Given the description of an element on the screen output the (x, y) to click on. 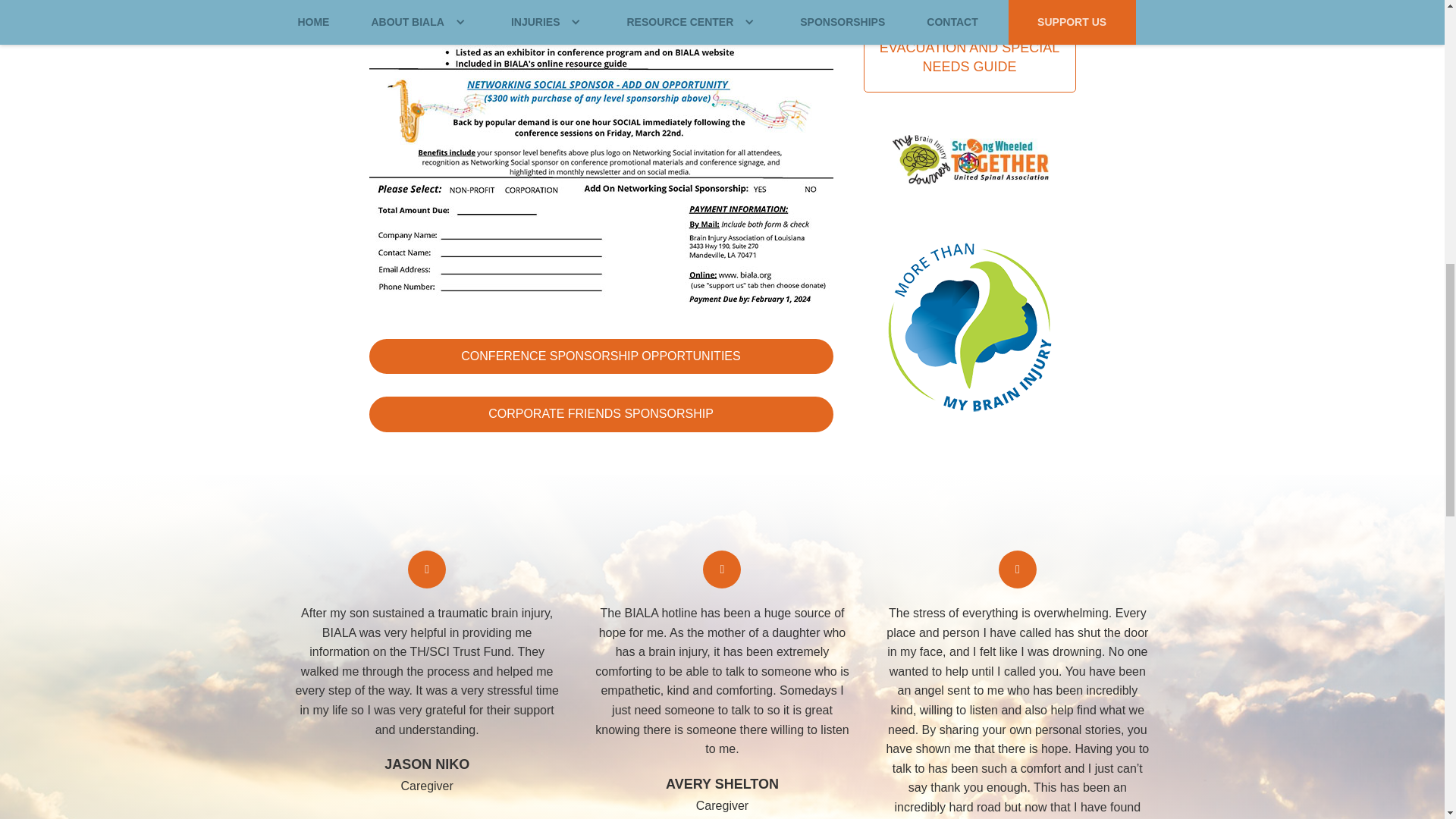
DOWNLOAD THE EVACUATION AND SPECIAL NEEDS GUIDE (969, 47)
CONFERENCE SPONSORSHIP OPPORTUNITIES (600, 356)
CORPORATE FRIENDS SPONSORSHIP (600, 413)
